Given the description of an element on the screen output the (x, y) to click on. 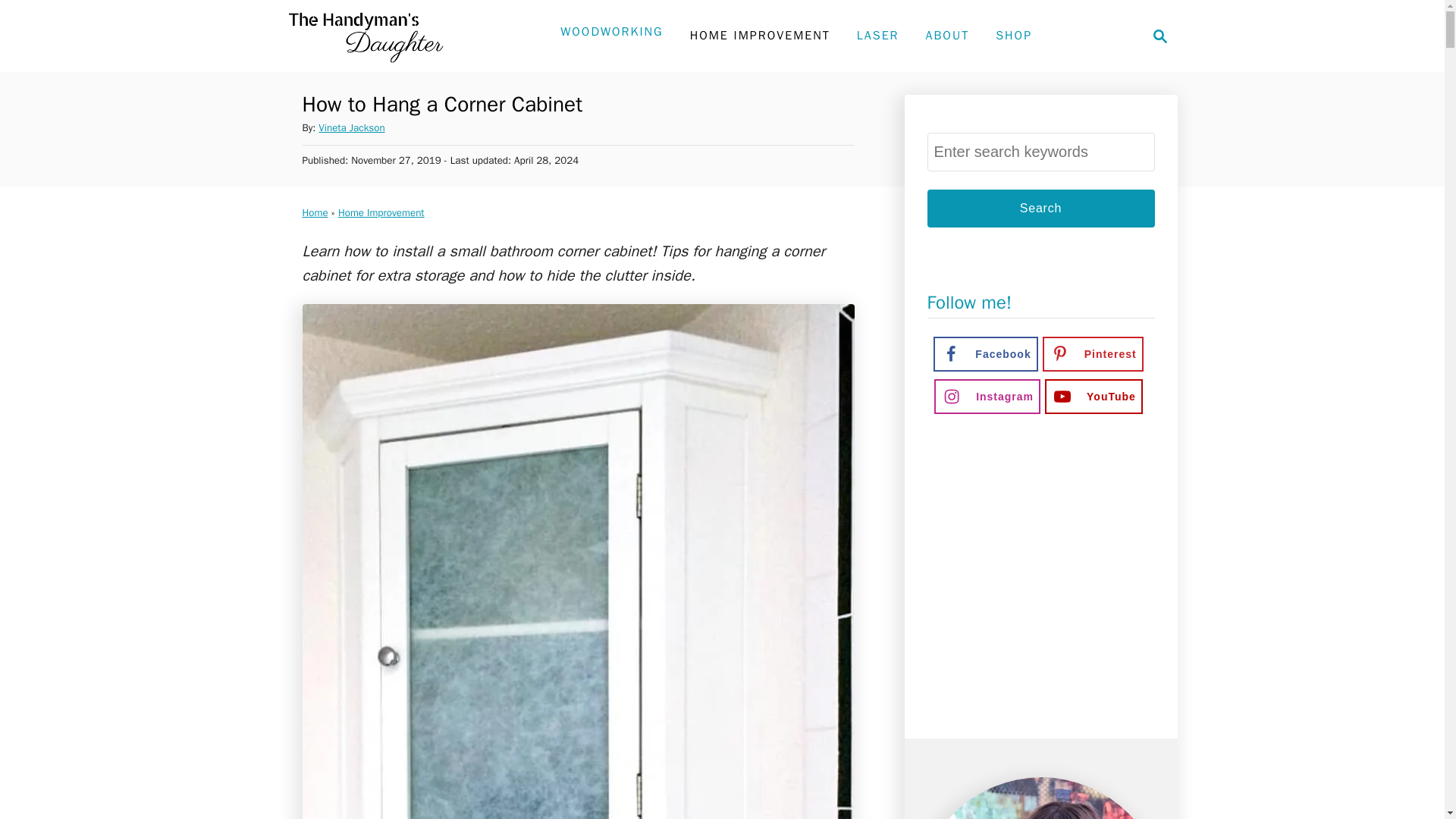
HOME IMPROVEMENT (760, 35)
Vineta Jackson (351, 127)
LASER (877, 35)
Home (314, 212)
Home Improvement (381, 212)
ABOUT (946, 35)
Magnifying Glass (1160, 36)
The Handyman's Daughter (363, 35)
WOODWORKING (611, 31)
Search (1040, 208)
SHOP (1155, 36)
Search (1013, 35)
